Given the description of an element on the screen output the (x, y) to click on. 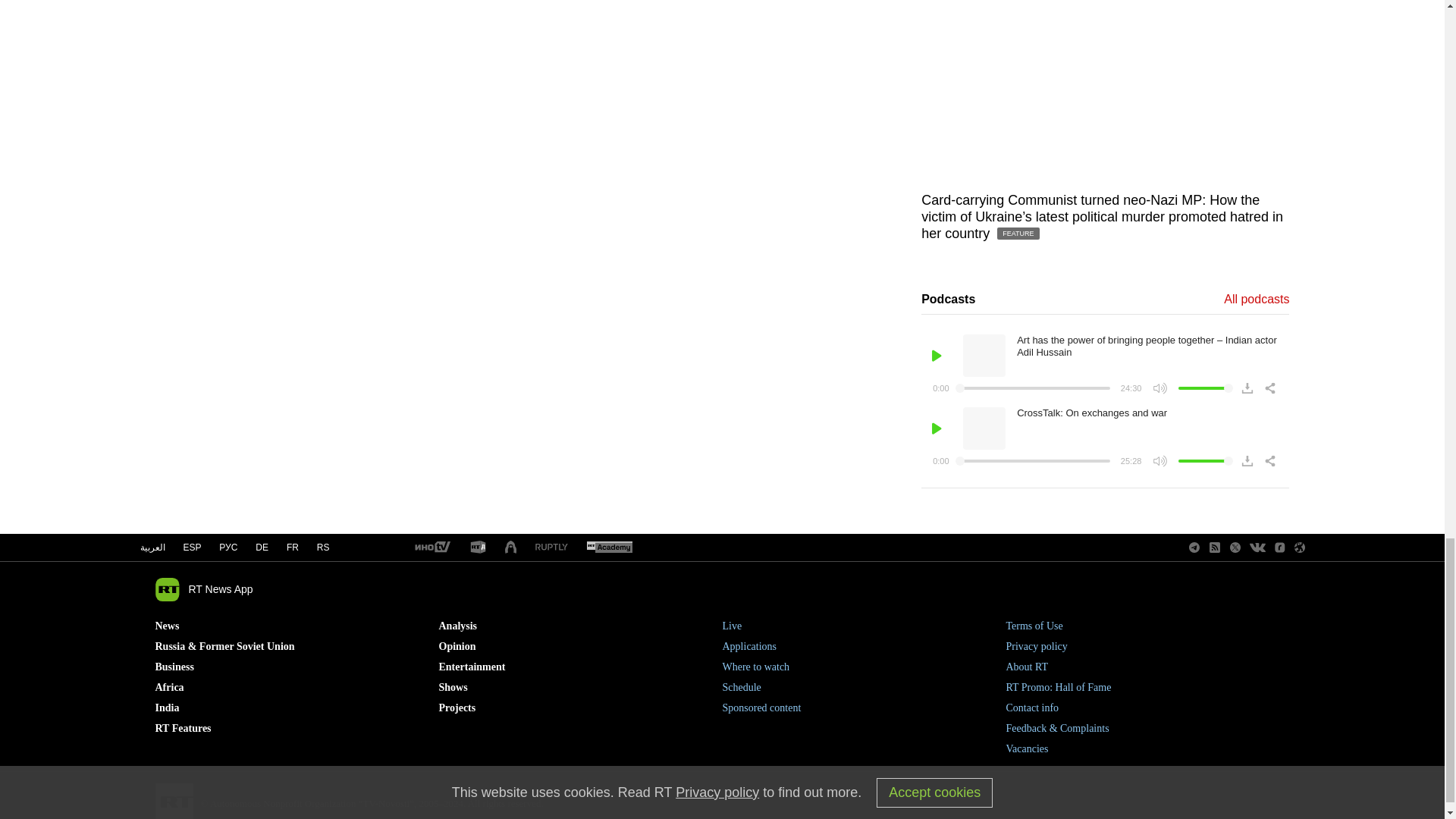
RT  (431, 547)
RT  (608, 547)
RT  (478, 547)
RT  (551, 547)
